Given the description of an element on the screen output the (x, y) to click on. 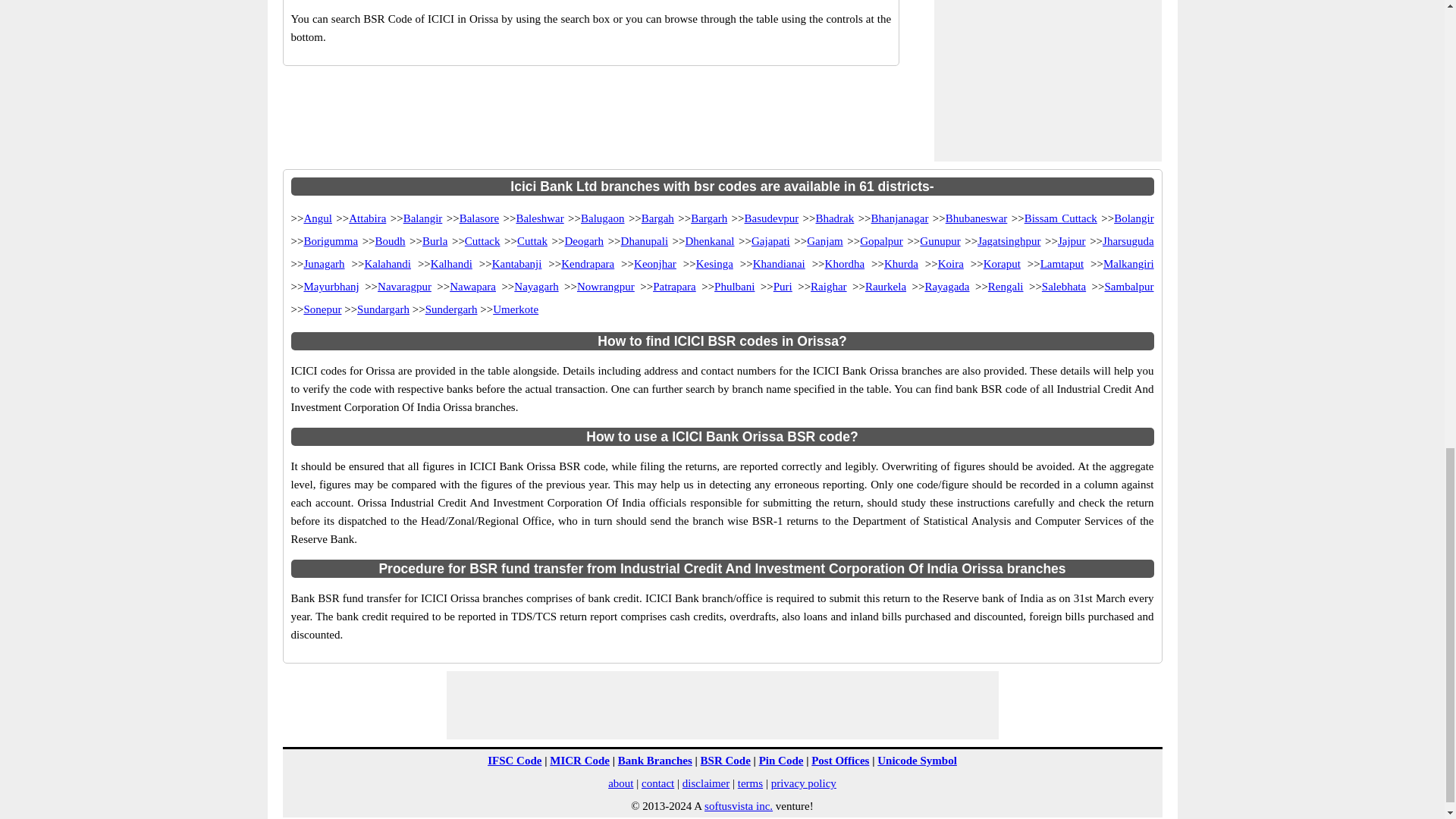
Balangir (422, 218)
Advertisement (721, 704)
Burla (434, 241)
Bhubaneswar (975, 218)
Angul (316, 218)
Bissam Cuttack (1061, 218)
Bargah (658, 218)
Baleshwar (539, 218)
Basudevpur (771, 218)
Borigumma (330, 241)
